Given the description of an element on the screen output the (x, y) to click on. 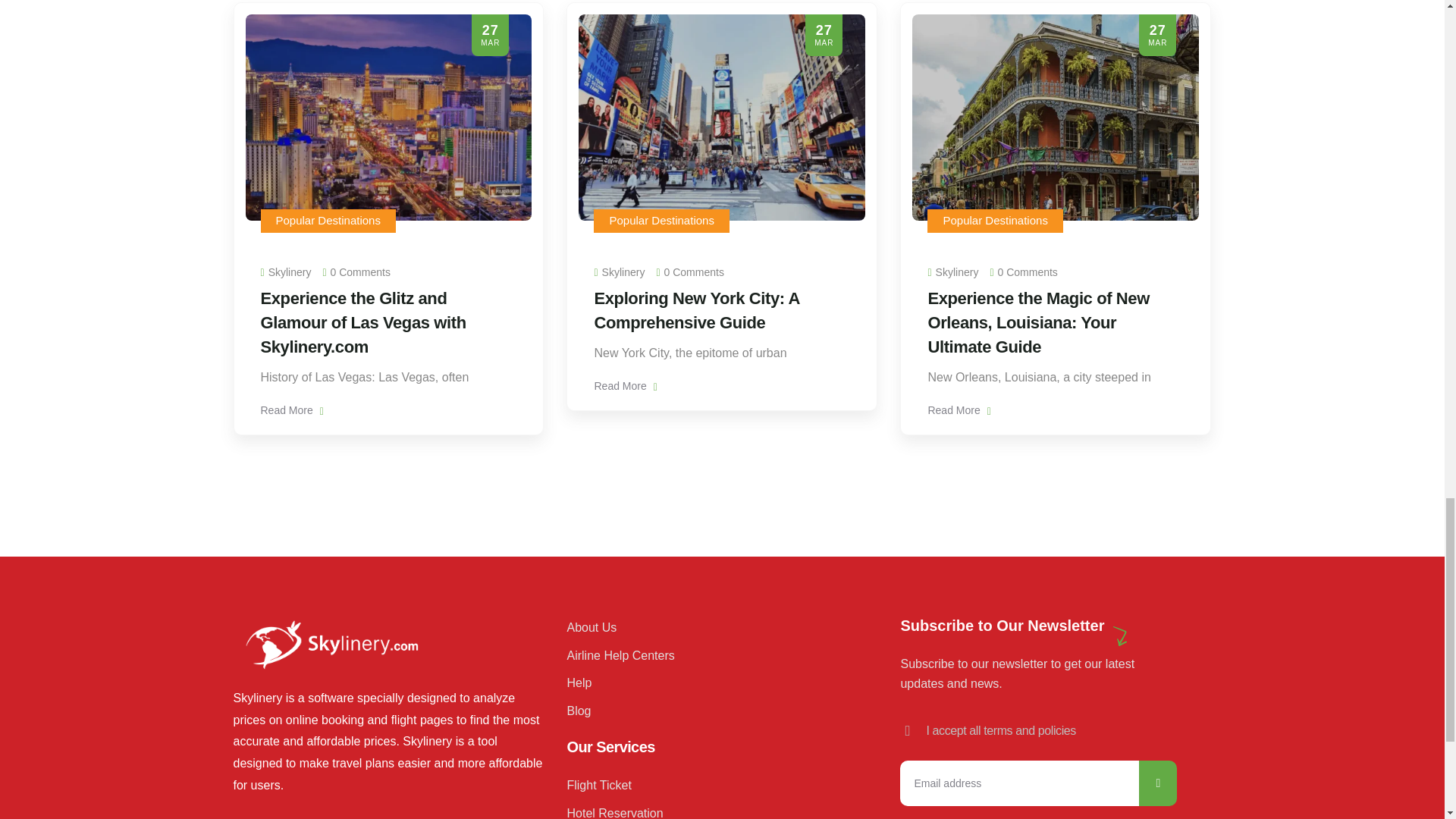
About Us (713, 628)
Exploring New York City: A Comprehensive Guide (696, 310)
Popular Destinations (994, 219)
Read More (958, 410)
Read More (625, 386)
Popular Destinations (328, 219)
Home (330, 643)
Help (713, 683)
Read More (291, 410)
